Given the description of an element on the screen output the (x, y) to click on. 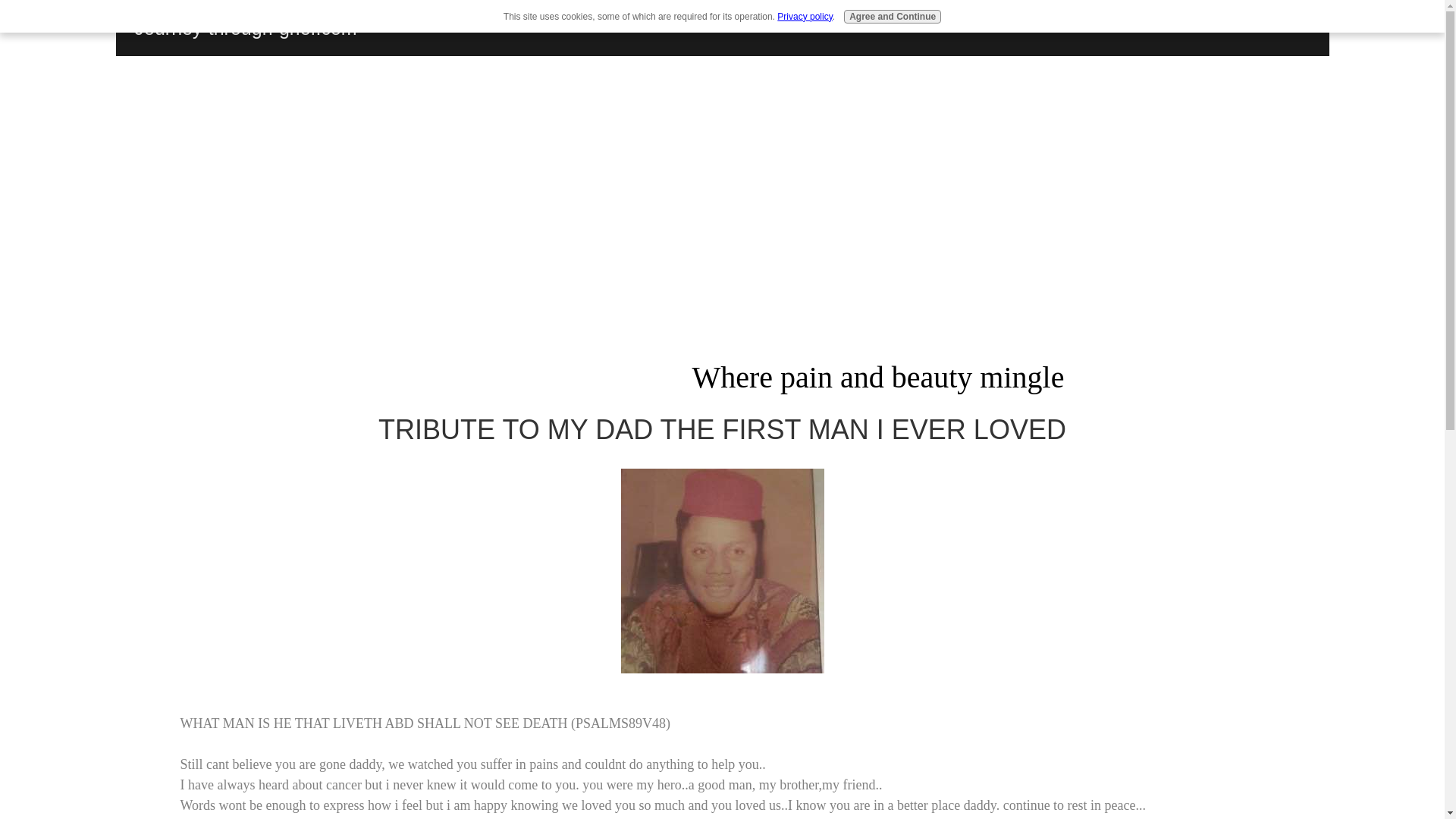
Journey-through-grief.com (245, 27)
HOME (500, 27)
